Given the description of an element on the screen output the (x, y) to click on. 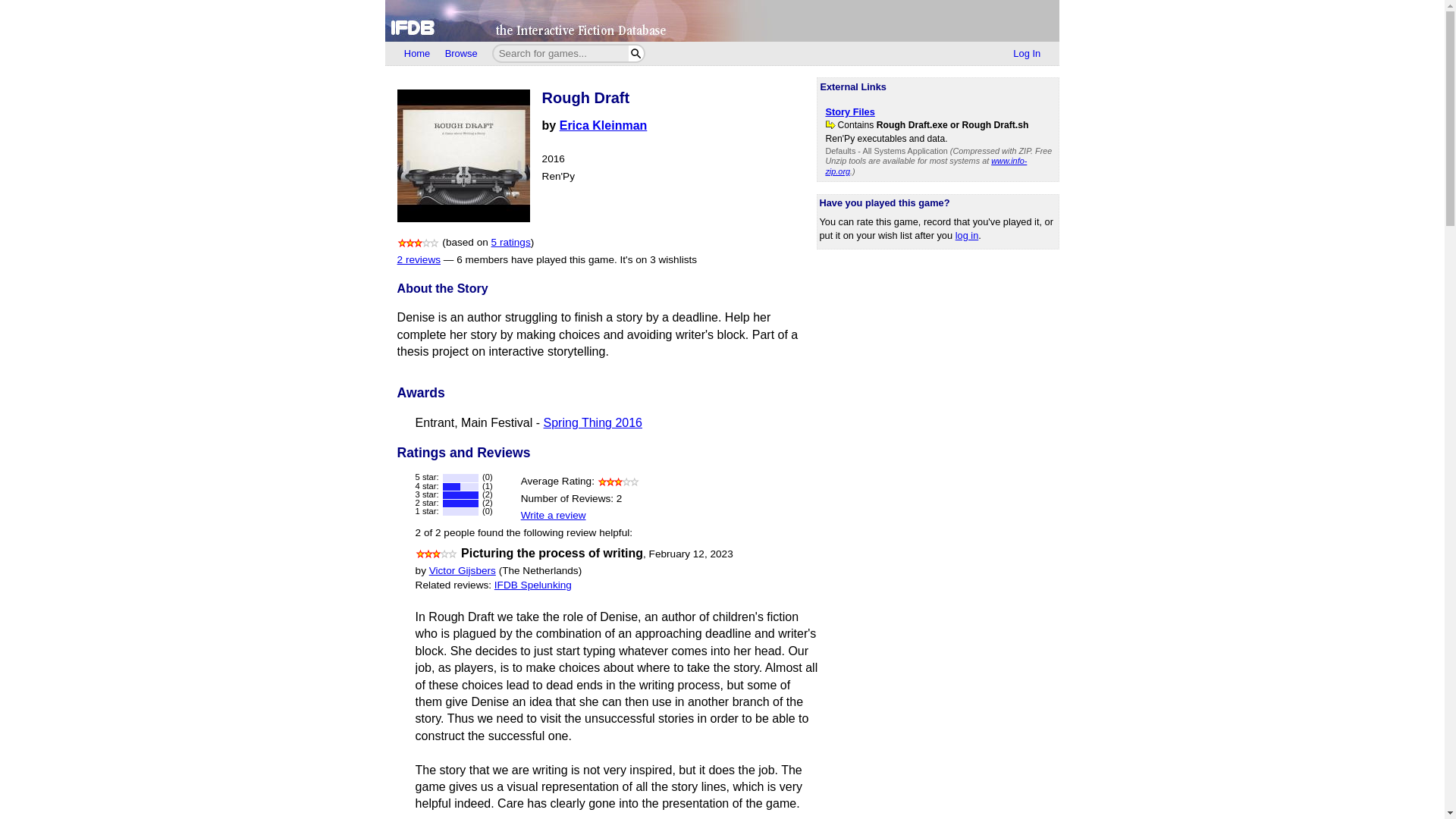
5 ratings (511, 242)
Write a review (553, 514)
View all ratings and reviews for this game (511, 242)
Browse (461, 53)
Spring Thing 2016 (592, 422)
3 Stars (618, 481)
Log In (1027, 53)
Story Files (850, 111)
3 Stars (418, 243)
log in (966, 235)
2 reviews (419, 259)
3 Stars (436, 553)
IFDB Spelunking (533, 584)
Victor Gijsbers (462, 570)
Erica Kleinman (603, 124)
